Given the description of an element on the screen output the (x, y) to click on. 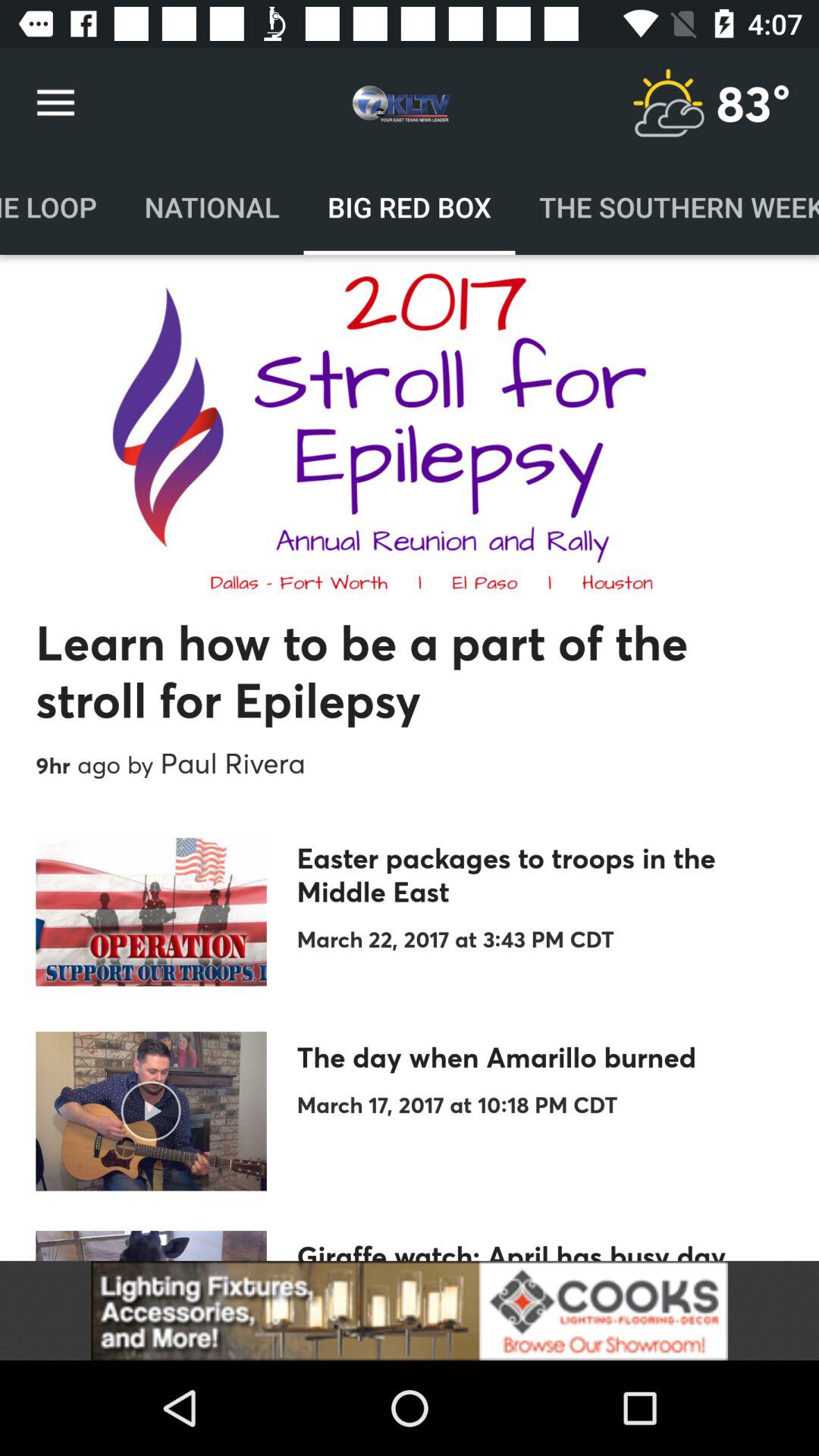
go to advertisements website (409, 1310)
